Given the description of an element on the screen output the (x, y) to click on. 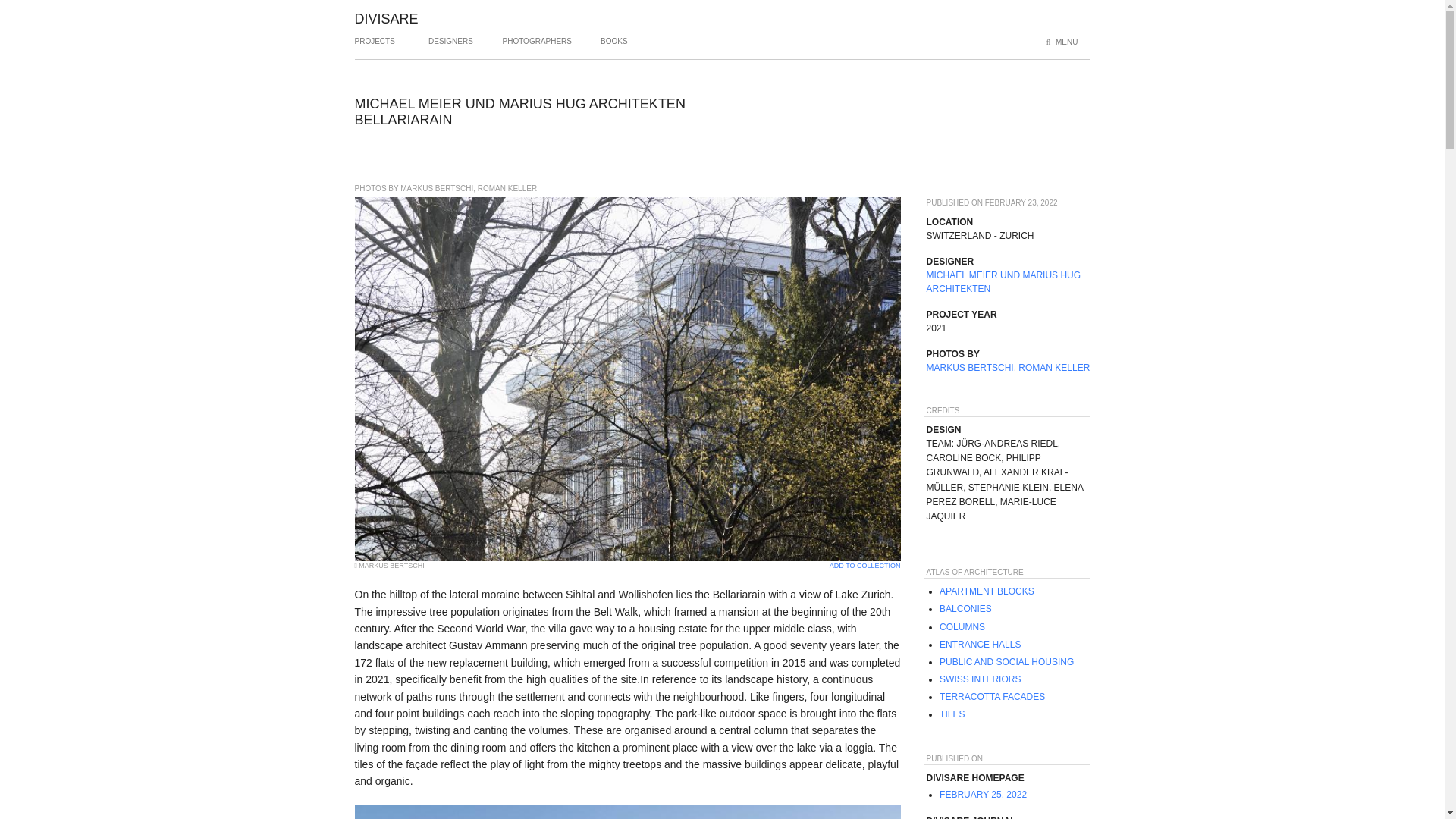
DIVISARE (387, 18)
PROJECTS (374, 46)
